Given the description of an element on the screen output the (x, y) to click on. 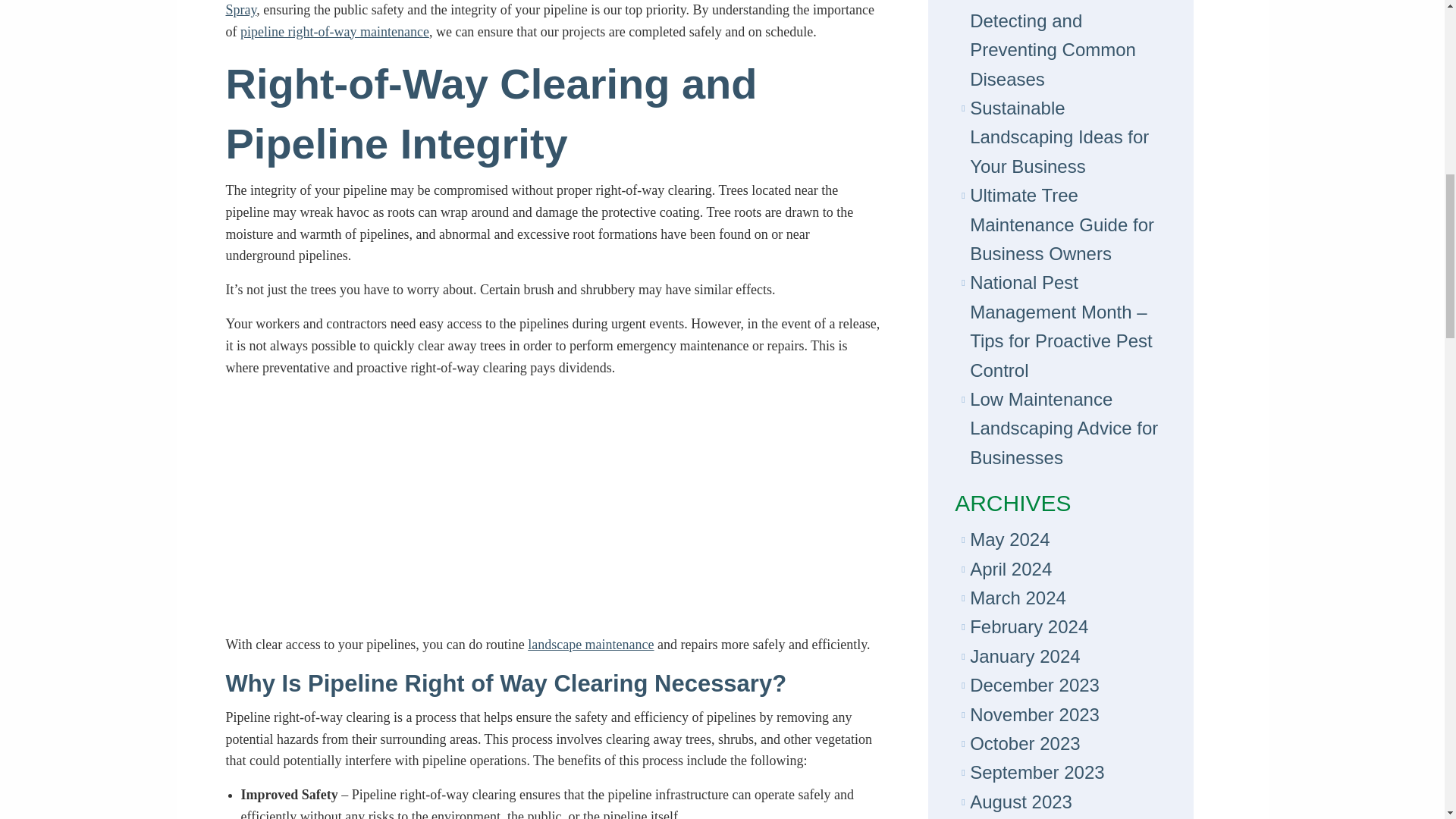
April 2024 (1010, 568)
Ultimate Tree Maintenance Guide for Business Owners (1061, 224)
May 2024 (1009, 539)
Low Maintenance Landscaping Advice for Businesses (1063, 428)
Coastal Spray (550, 8)
Tree Health 101: Detecting and Preventing Common Diseases (1052, 44)
landscape maintenance (590, 644)
pipeline right-of-way maintenance (334, 31)
Sustainable Landscaping Ideas for Your Business (1058, 136)
February 2024 (1028, 626)
March 2024 (1017, 598)
January 2024 (1024, 656)
